Given the description of an element on the screen output the (x, y) to click on. 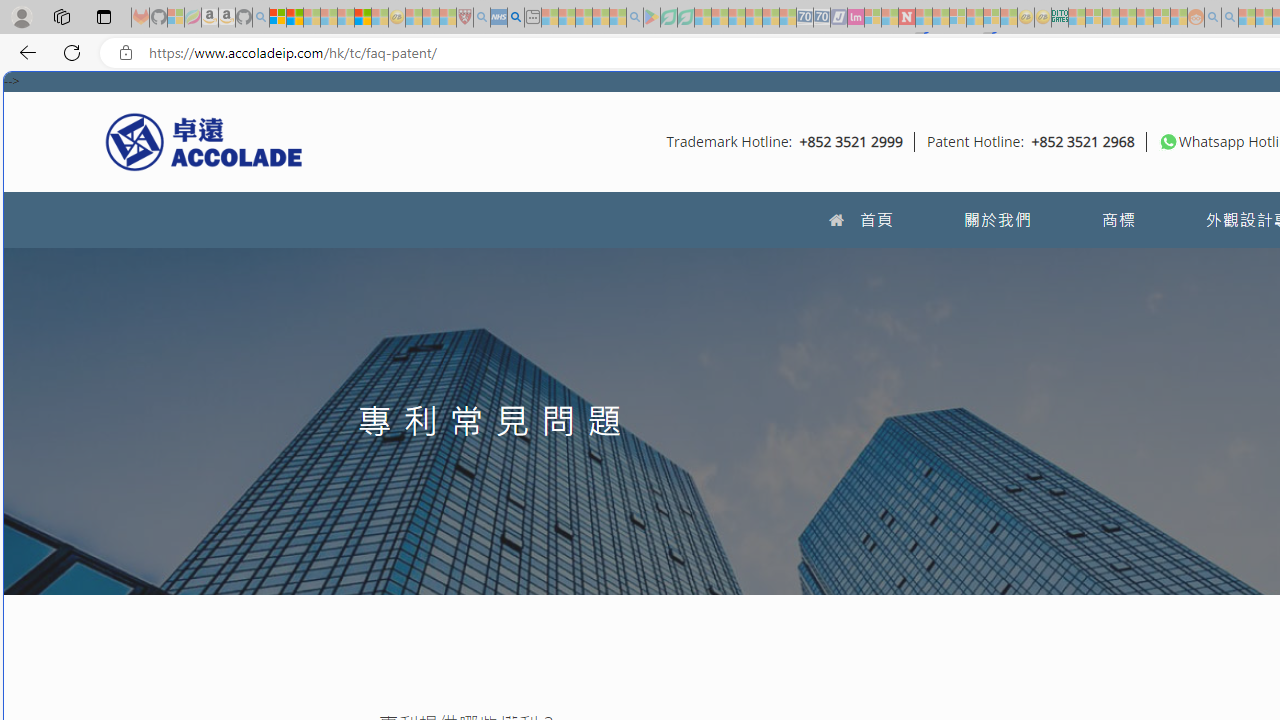
list of asthma inhalers uk - Search - Sleeping (481, 17)
Bluey: Let's Play! - Apps on Google Play - Sleeping (651, 17)
Robert H. Shmerling, MD - Harvard Health - Sleeping (465, 17)
To get missing image descriptions, open the context menu. (1168, 141)
Terms of Use Agreement - Sleeping (668, 17)
Microsoft-Report a Concern to Bing - Sleeping (175, 17)
